Given the description of an element on the screen output the (x, y) to click on. 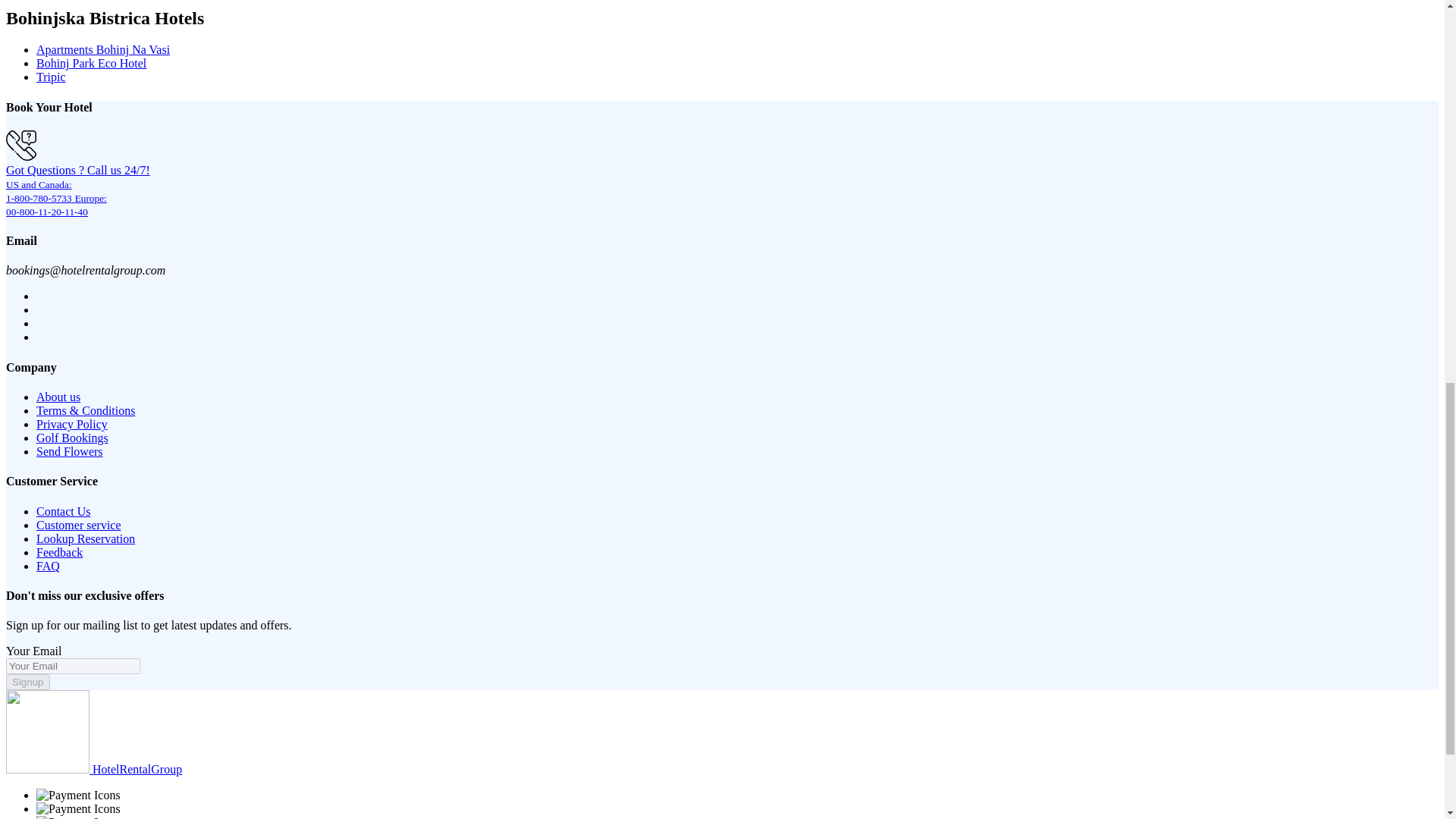
Bohinj Park Eco Hotel (91, 62)
Apartments Bohinj Na Vasi (103, 49)
